Given the description of an element on the screen output the (x, y) to click on. 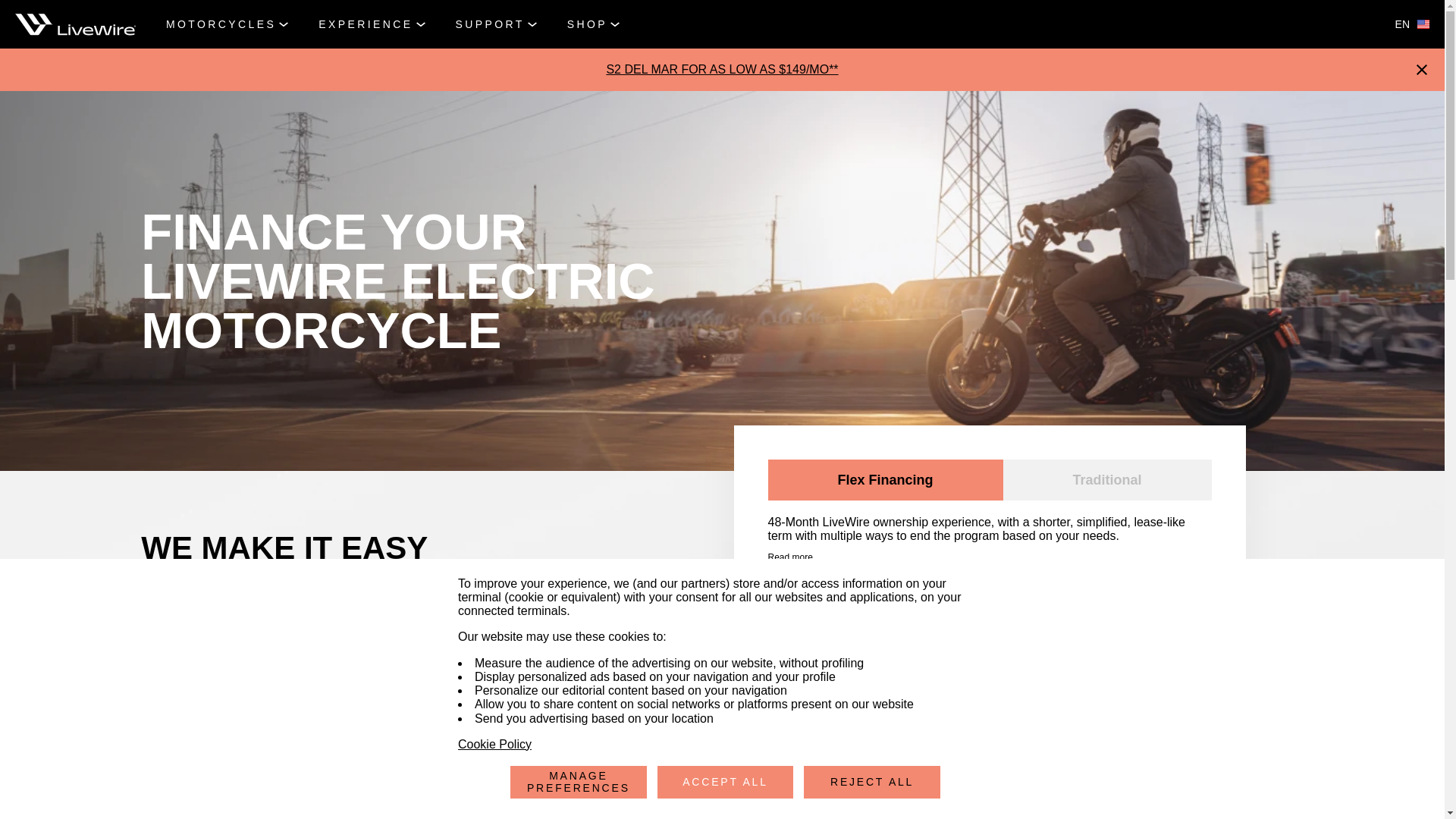
Flex Financing (885, 479)
Traditional (1107, 479)
MANAGE PREFERENCES (578, 781)
EXPERIENCE (371, 24)
Cookie Policy (494, 744)
SHOP (593, 24)
0 (1153, 755)
SUPPORT (496, 24)
REJECT ALL (871, 781)
ACCEPT ALL (725, 781)
